Given the description of an element on the screen output the (x, y) to click on. 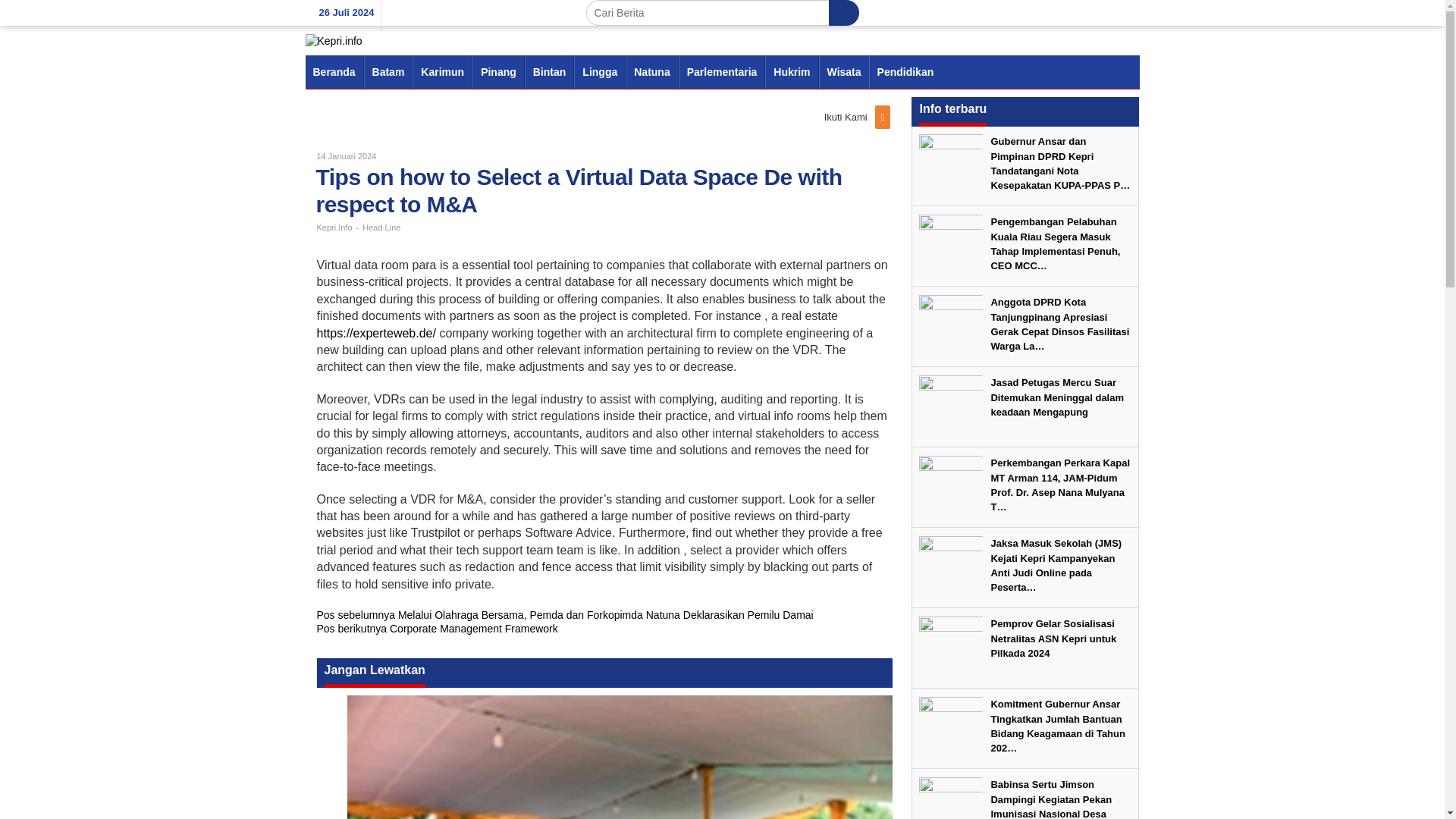
Bintan (549, 71)
Karimun (441, 71)
Kepri.info (332, 40)
Batam (388, 71)
Parlementaria (721, 71)
Pos berikutnya Corporate Management Framework (437, 628)
Head Line (381, 226)
Kepri.info (332, 39)
Natuna (652, 71)
RSS (884, 116)
Pinang (497, 71)
Beranda (333, 71)
Wisata (843, 71)
